Given the description of an element on the screen output the (x, y) to click on. 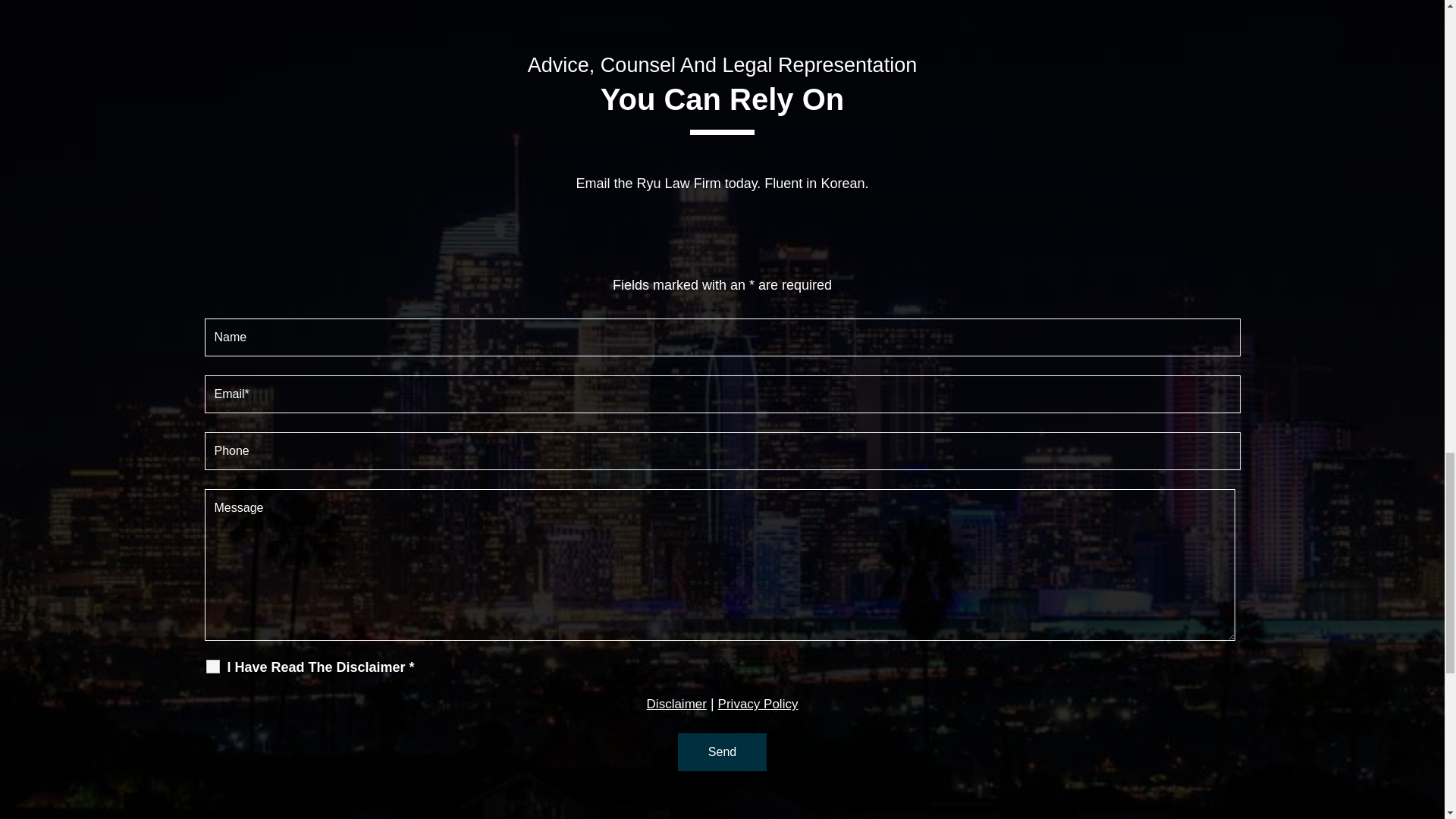
Send (722, 752)
Send (722, 752)
Privacy Policy (757, 703)
Disclaimer (676, 703)
